Given the description of an element on the screen output the (x, y) to click on. 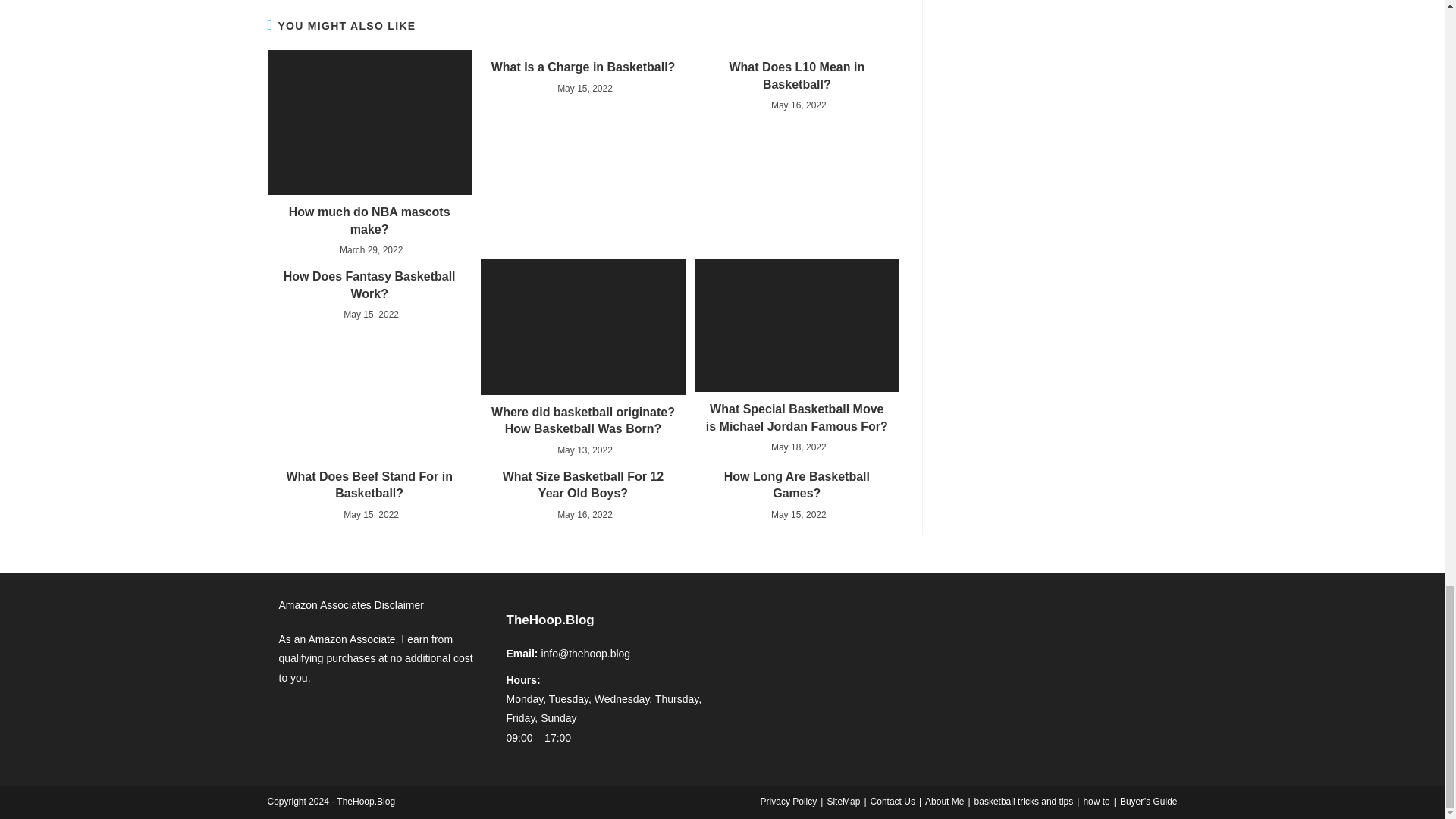
What Special Basketball Move is Michael Jordan Famous For? 3 (796, 325)
Where did basketball originate? How Basketball Was Born? 2 (582, 326)
How much do NBA mascots make? 1 (368, 121)
